Given the description of an element on the screen output the (x, y) to click on. 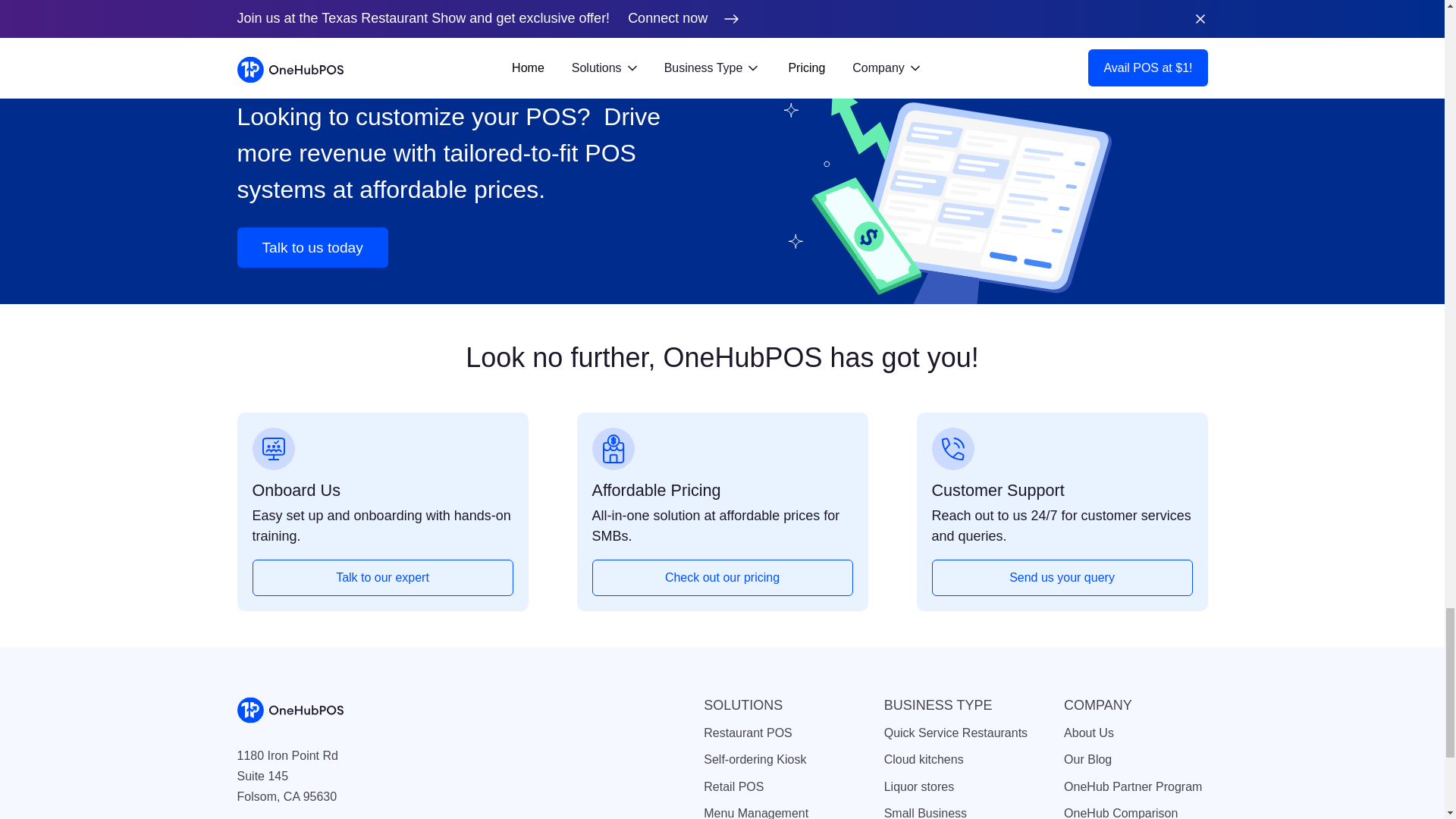
Menu Management (775, 811)
Talk to our expert (381, 577)
Quick Service Restaurants (955, 732)
Talk to us today (311, 247)
Self-ordering Kiosk (775, 759)
Retail POS (775, 786)
Restaurant POS (775, 732)
Check out our pricing (721, 577)
Send us your query (1061, 577)
